Given the description of an element on the screen output the (x, y) to click on. 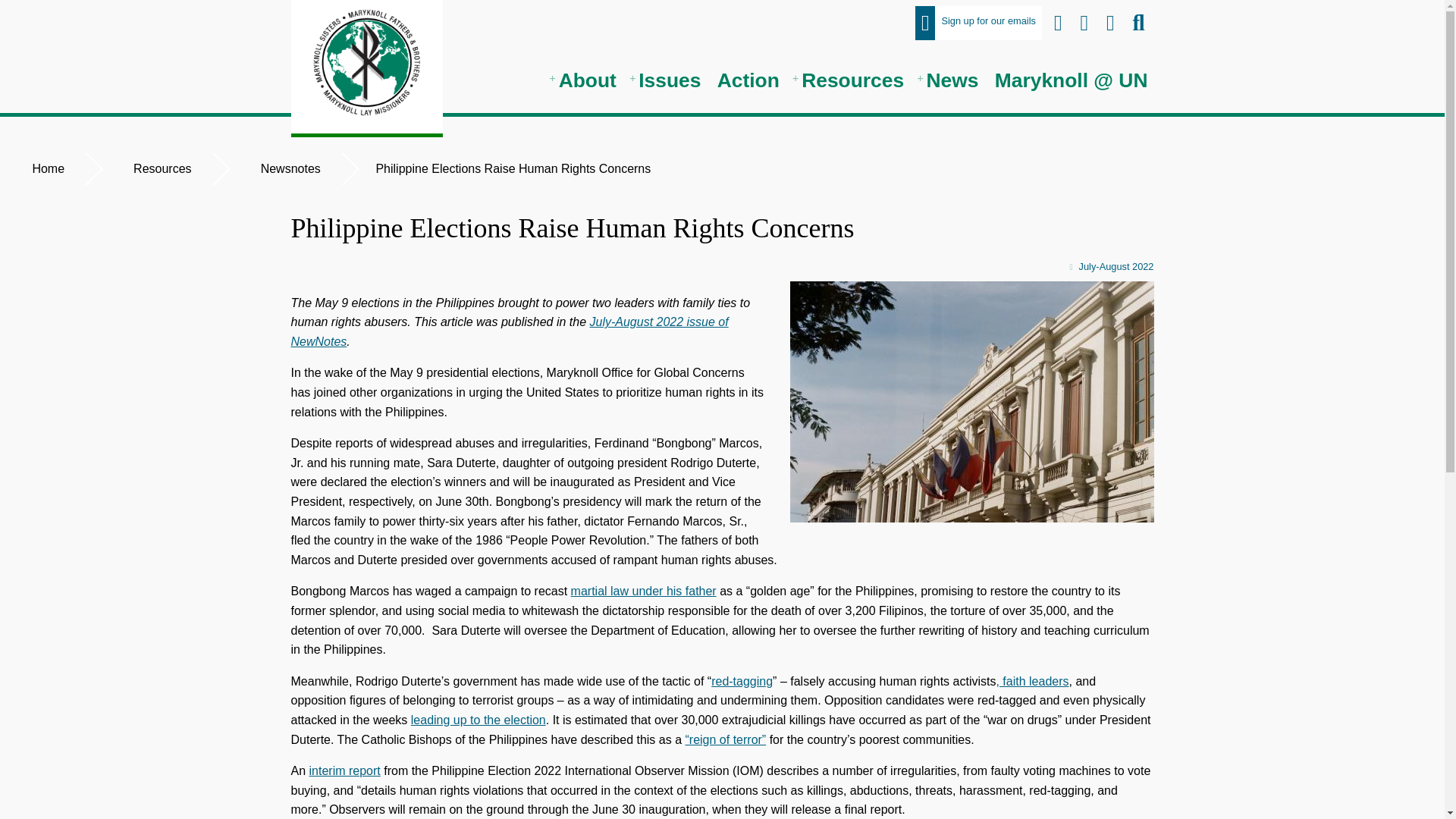
Resources (849, 80)
Sign up for our emails (978, 22)
News (949, 80)
July-August 2022 issue of NewNotes (510, 331)
July-August 2022 (722, 266)
Newsnotes (288, 169)
Issues (666, 80)
martial law under his father (643, 590)
Home (46, 169)
Action (748, 80)
About (585, 80)
Resources (160, 169)
Maryknoll Office for Global Concerns homepage (366, 66)
red-tagging (742, 680)
